Given the description of an element on the screen output the (x, y) to click on. 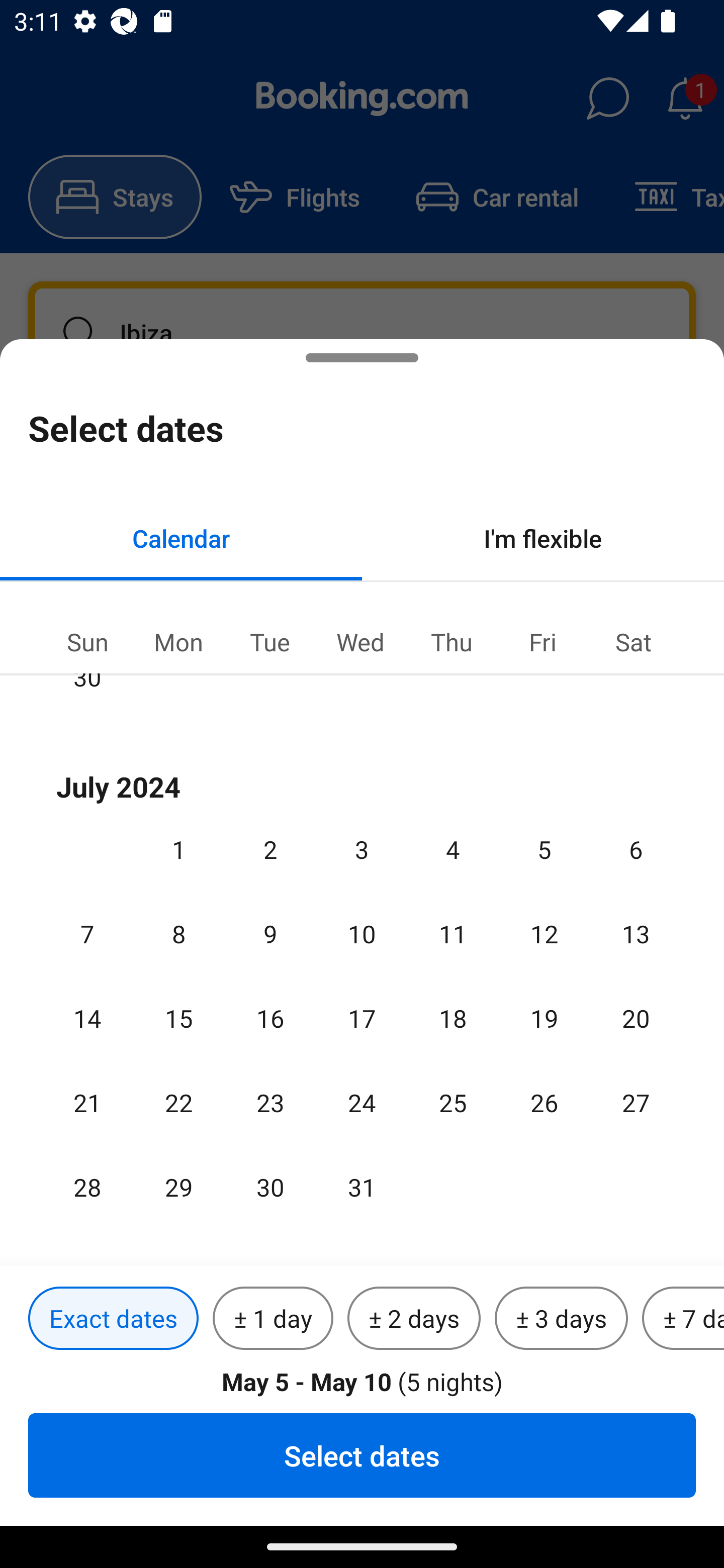
I'm flexible (543, 537)
Exact dates (113, 1318)
± 1 day (272, 1318)
± 2 days (413, 1318)
± 3 days (560, 1318)
± 7 days (683, 1318)
Select dates (361, 1454)
